Given the description of an element on the screen output the (x, y) to click on. 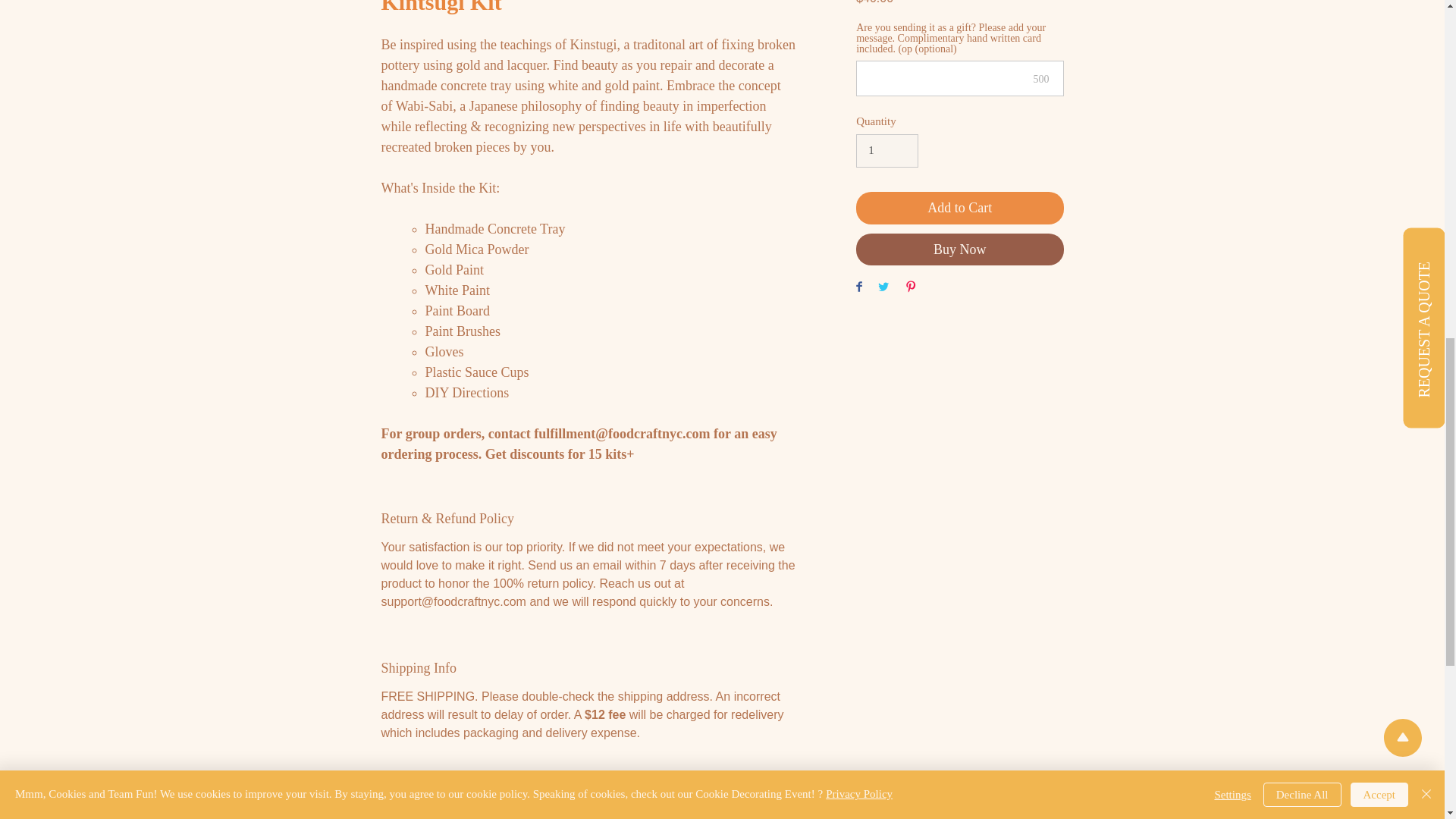
Add to Cart (959, 206)
1 (887, 150)
Buy Now (959, 249)
